Given the description of an element on the screen output the (x, y) to click on. 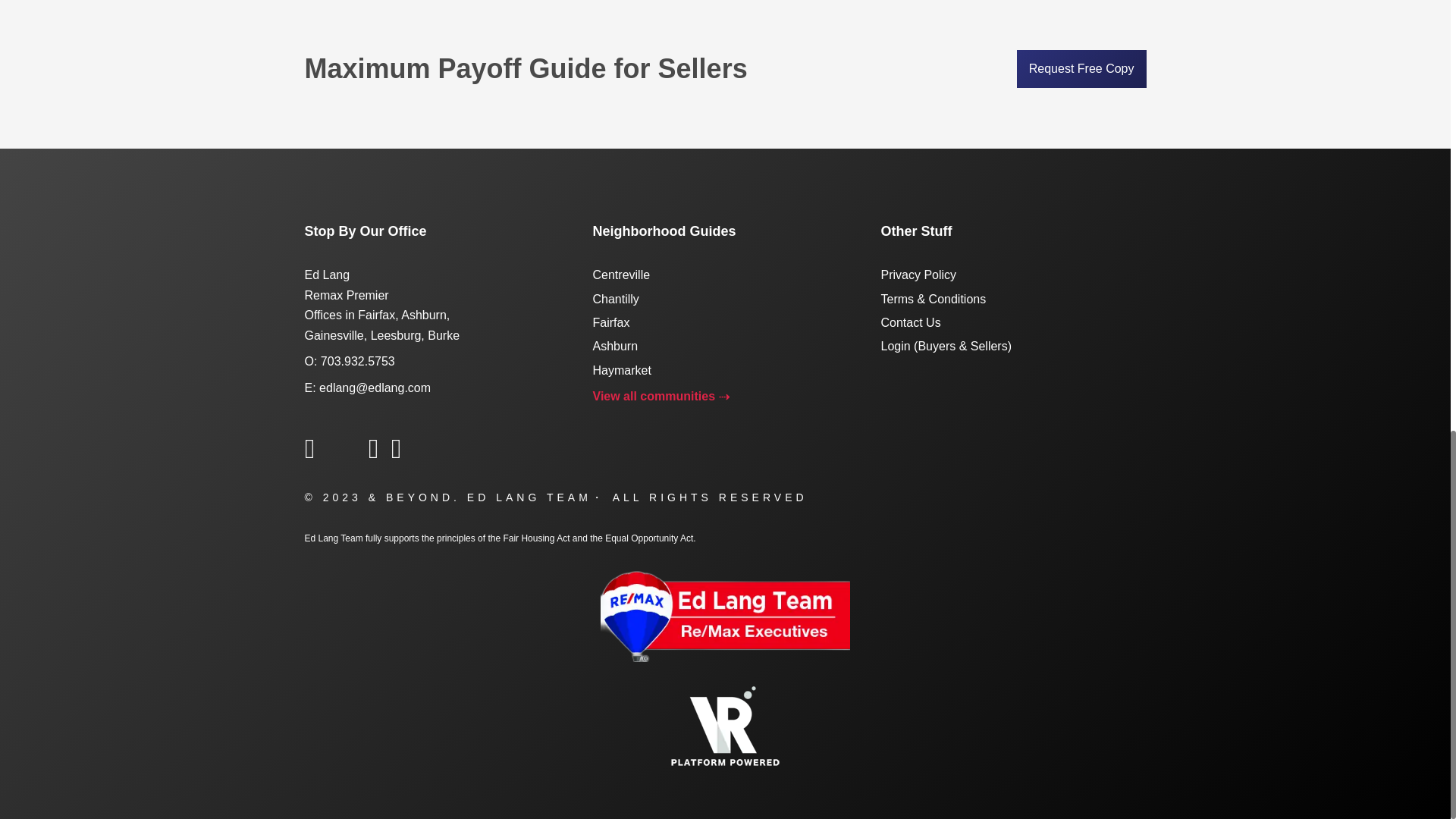
Centreville (621, 274)
Contact Us (910, 322)
Request Free Copy (1081, 68)
Haymarket (621, 369)
Chantilly (615, 298)
Ashburn (615, 345)
Privacy Policy (918, 274)
703.932.5753 (357, 360)
Fairfax (611, 322)
